Given the description of an element on the screen output the (x, y) to click on. 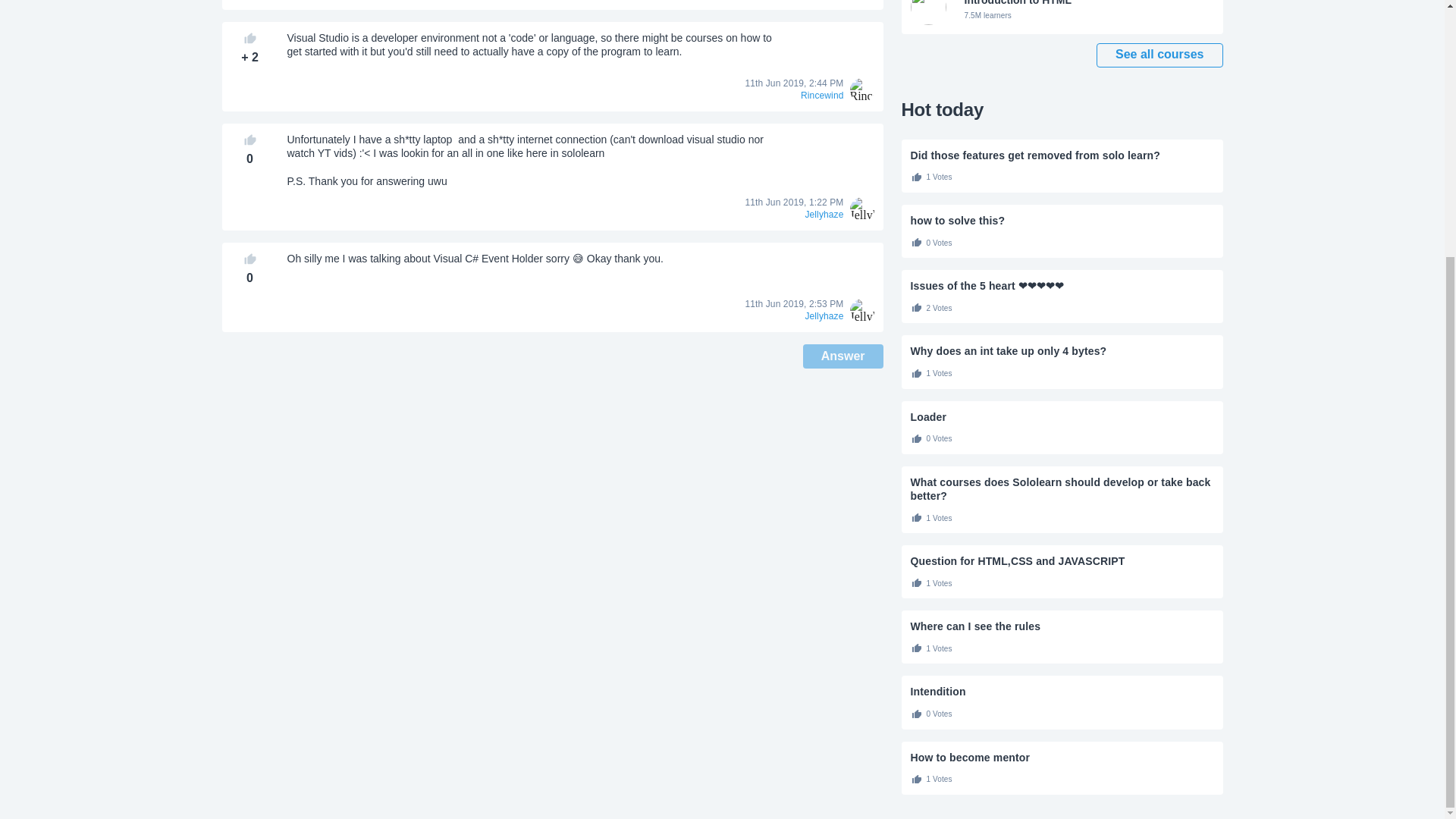
Intendition (1061, 691)
Why does an int take up only 4 bytes? (1061, 350)
Loader (1061, 417)
Introduction to HTML (1062, 17)
Question for HTML,CSS and JAVASCRIPT (1061, 561)
Answer (843, 355)
Did those features get removed from solo learn? (1061, 155)
how to solve this? (1062, 17)
How to become mentor (1061, 220)
Where can I see the rules (1061, 757)
See all courses (1061, 626)
